Given the description of an element on the screen output the (x, y) to click on. 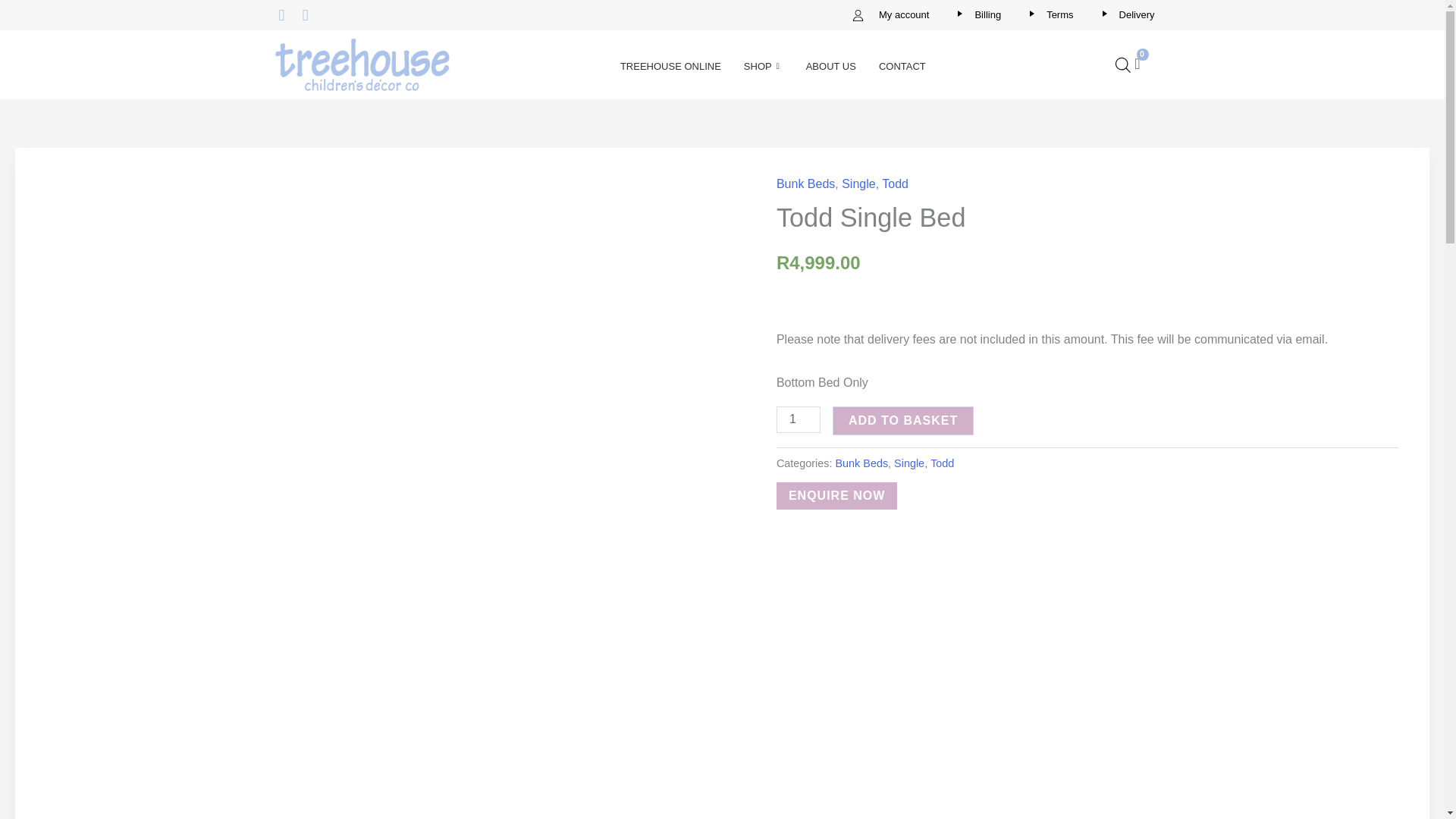
TREEHOUSE ONLINE (670, 78)
Delivery (1125, 15)
Billing (975, 15)
ENQUIRE NOW (836, 495)
My account (890, 15)
1 (798, 419)
Terms (1047, 15)
SHOP (763, 78)
